Given the description of an element on the screen output the (x, y) to click on. 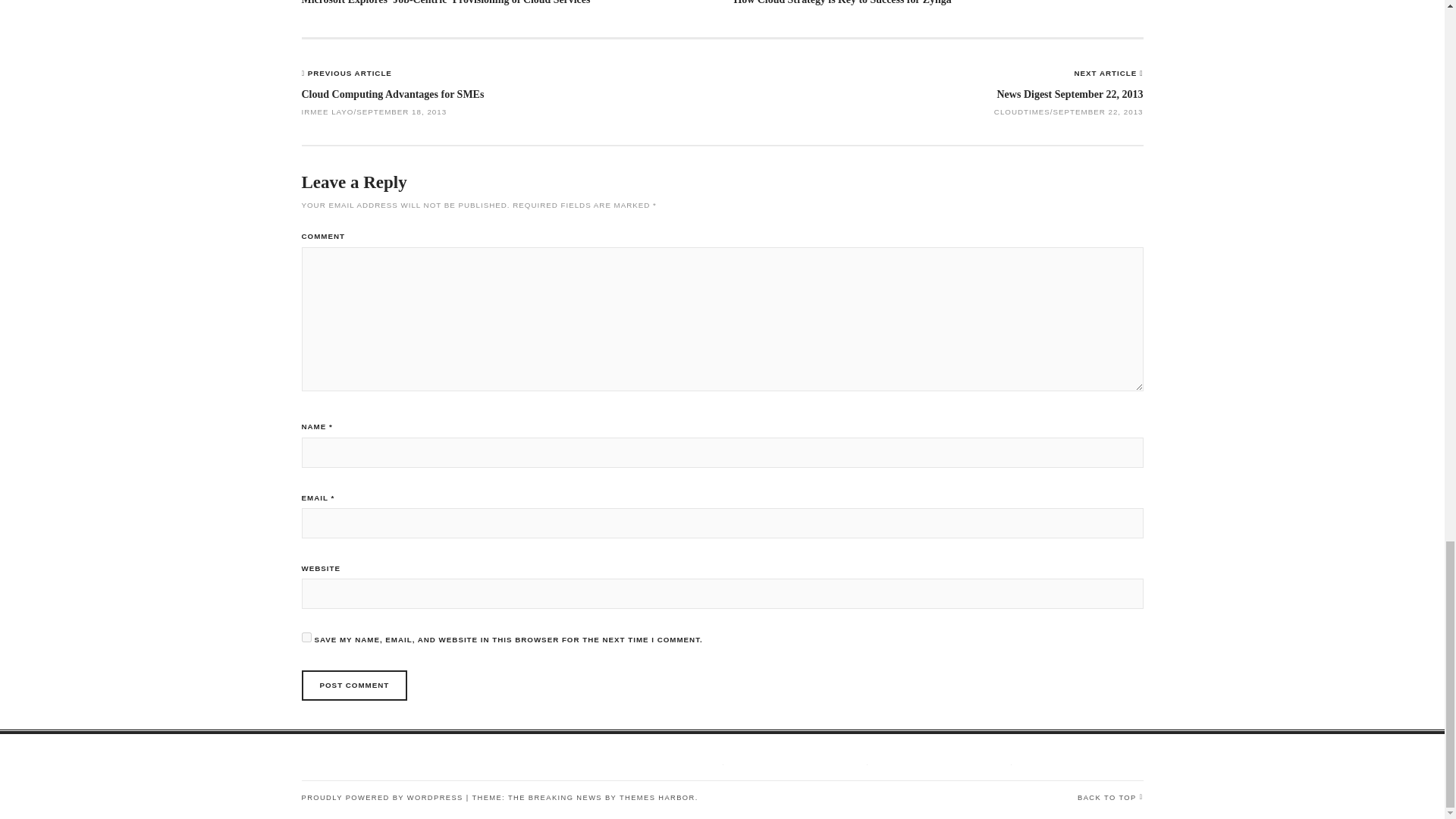
yes (306, 637)
Post Comment (354, 685)
